Given the description of an element on the screen output the (x, y) to click on. 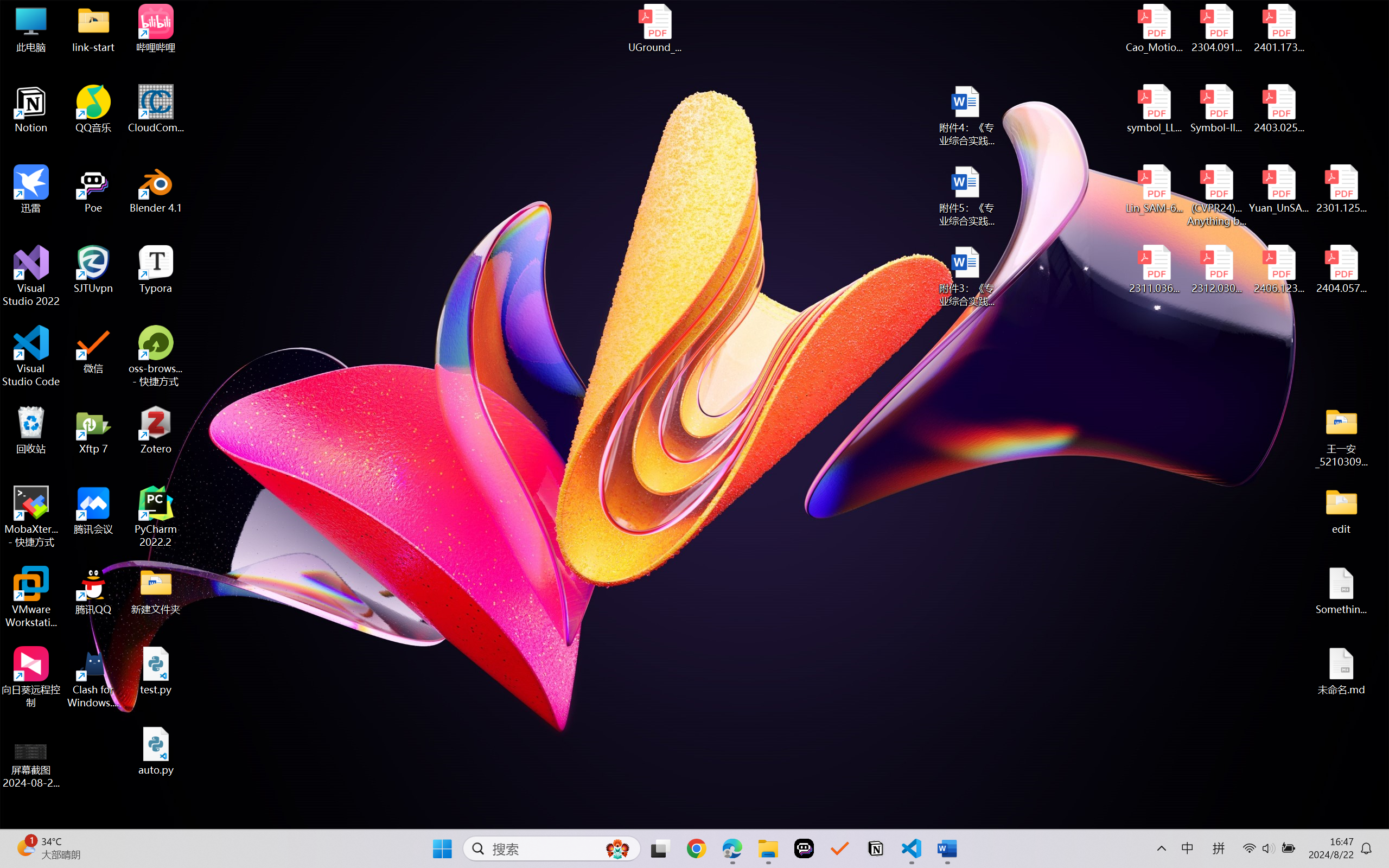
2301.12597v3.pdf (1340, 189)
(CVPR24)Matching Anything by Segmenting Anything.pdf (1216, 195)
Visual Studio Code (31, 355)
2404.05719v1.pdf (1340, 269)
SJTUvpn (93, 269)
2401.17399v1.pdf (1278, 28)
